Given the description of an element on the screen output the (x, y) to click on. 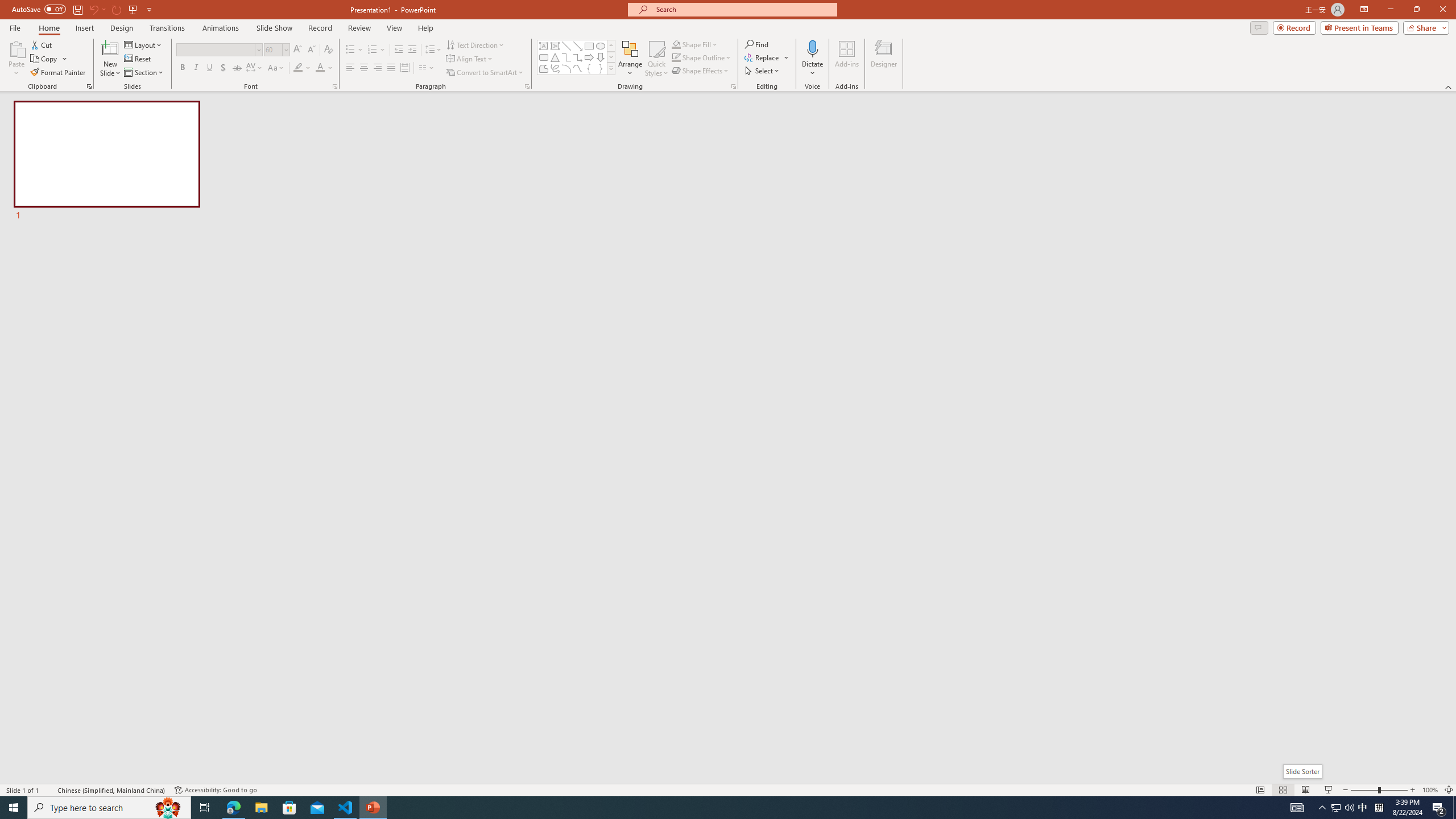
Microsoft search (742, 9)
Italic (195, 67)
Change Case (276, 67)
Save (77, 9)
Reset (138, 58)
Office Clipboard... (88, 85)
Present in Teams (1359, 27)
Bold (182, 67)
Font Color Red (320, 67)
Rectangle (589, 45)
Open (285, 49)
View (395, 28)
Shapes (611, 68)
Zoom 100% (1430, 790)
